Given the description of an element on the screen output the (x, y) to click on. 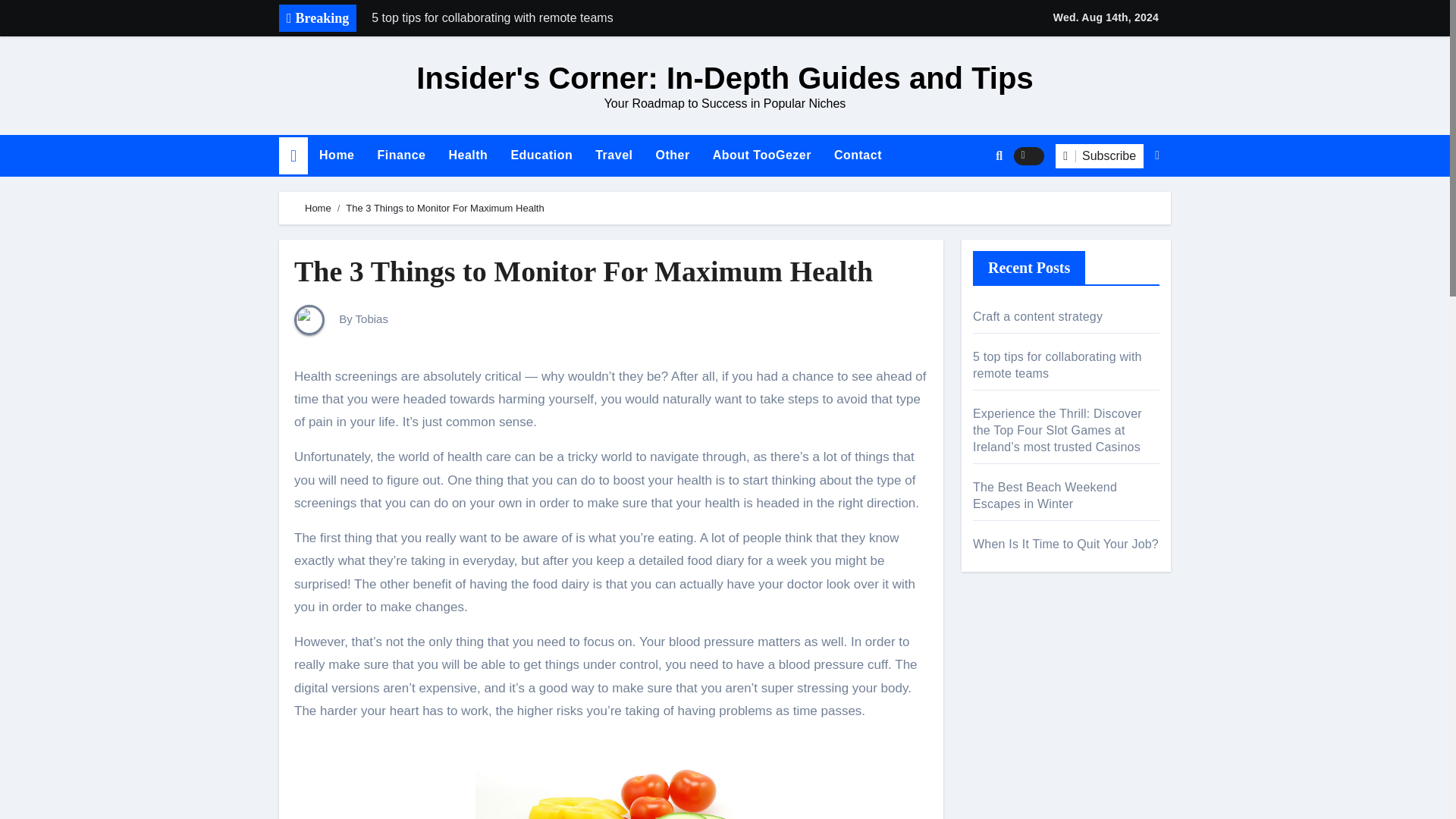
Subscribe (1098, 156)
By Tobias (341, 318)
Travel (613, 155)
Permalink to: The 3 Things to Monitor For Maximum Health (583, 271)
Home (336, 155)
Education (541, 155)
Finance (400, 155)
Contact (857, 155)
5 top tips for collaborating with remote teams (574, 18)
Home (317, 207)
